Given the description of an element on the screen output the (x, y) to click on. 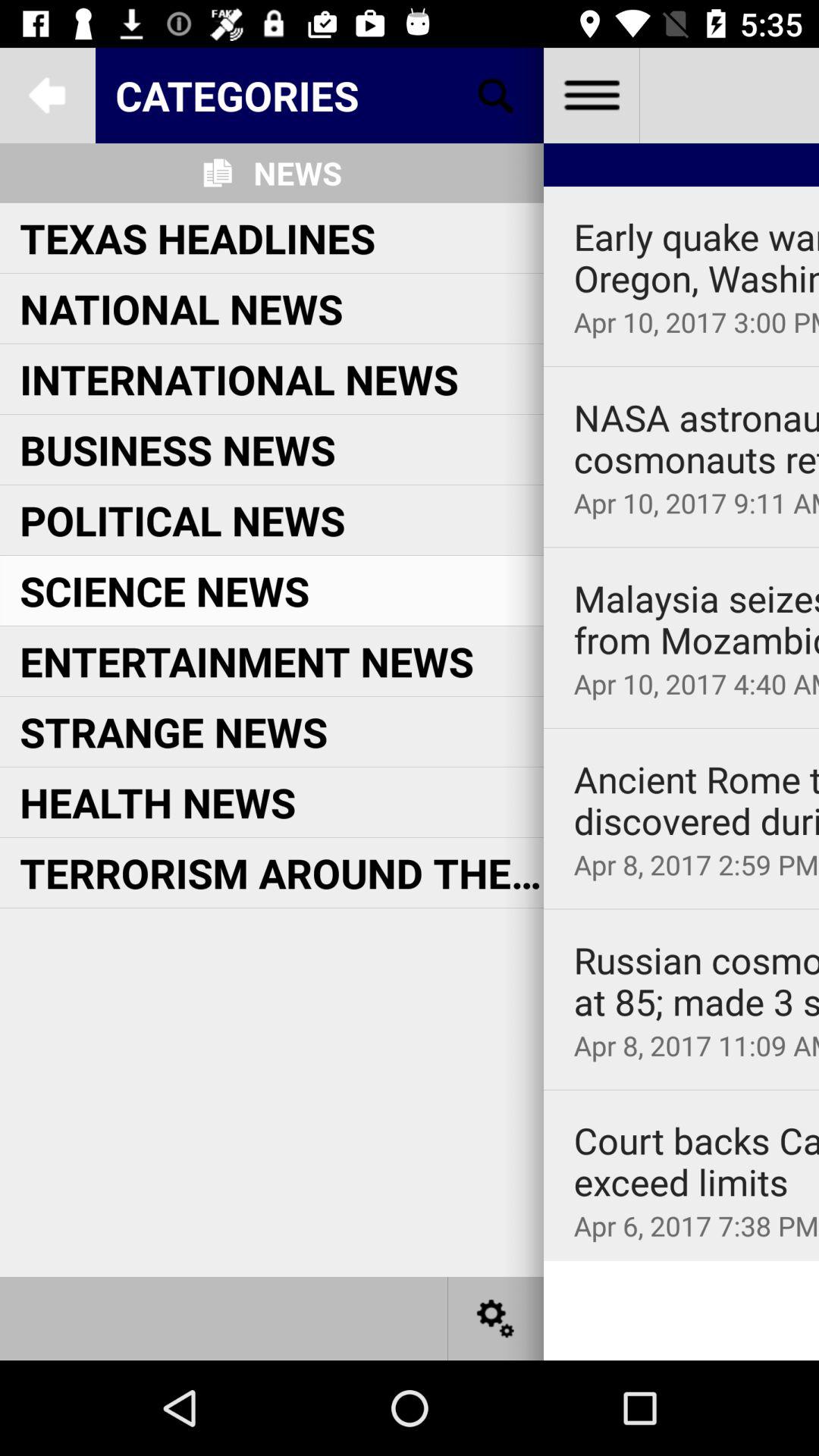
click court backs california (696, 1161)
